Given the description of an element on the screen output the (x, y) to click on. 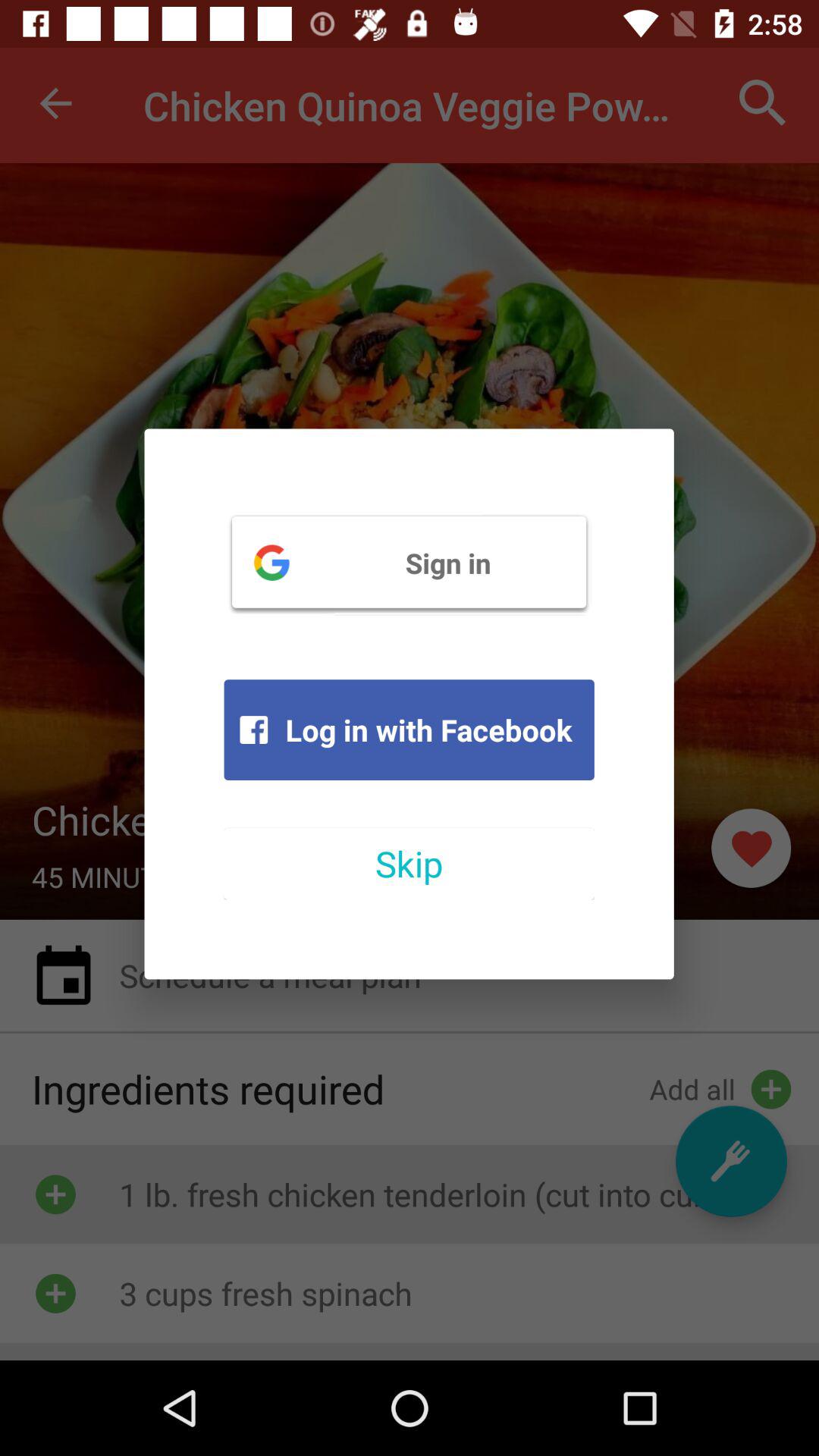
choose the item above log in with (409, 561)
